Given the description of an element on the screen output the (x, y) to click on. 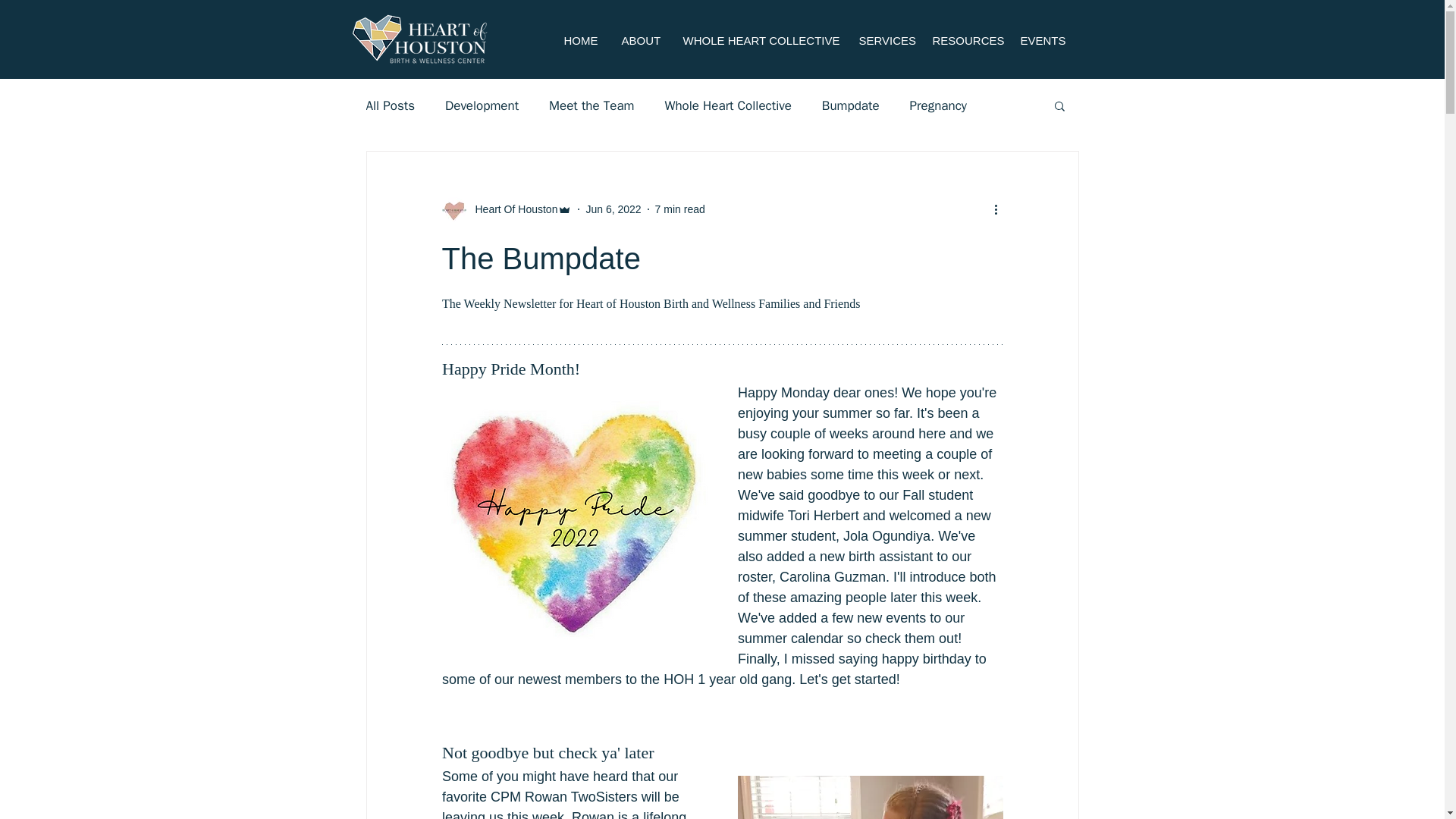
WHOLE HEART COLLECTIVE (759, 40)
HOME (580, 40)
Heart Of Houston (511, 209)
Jun 6, 2022 (612, 209)
RESOURCES (964, 40)
SERVICES (884, 40)
ABOUT (640, 40)
7 min read (679, 209)
